Given the description of an element on the screen output the (x, y) to click on. 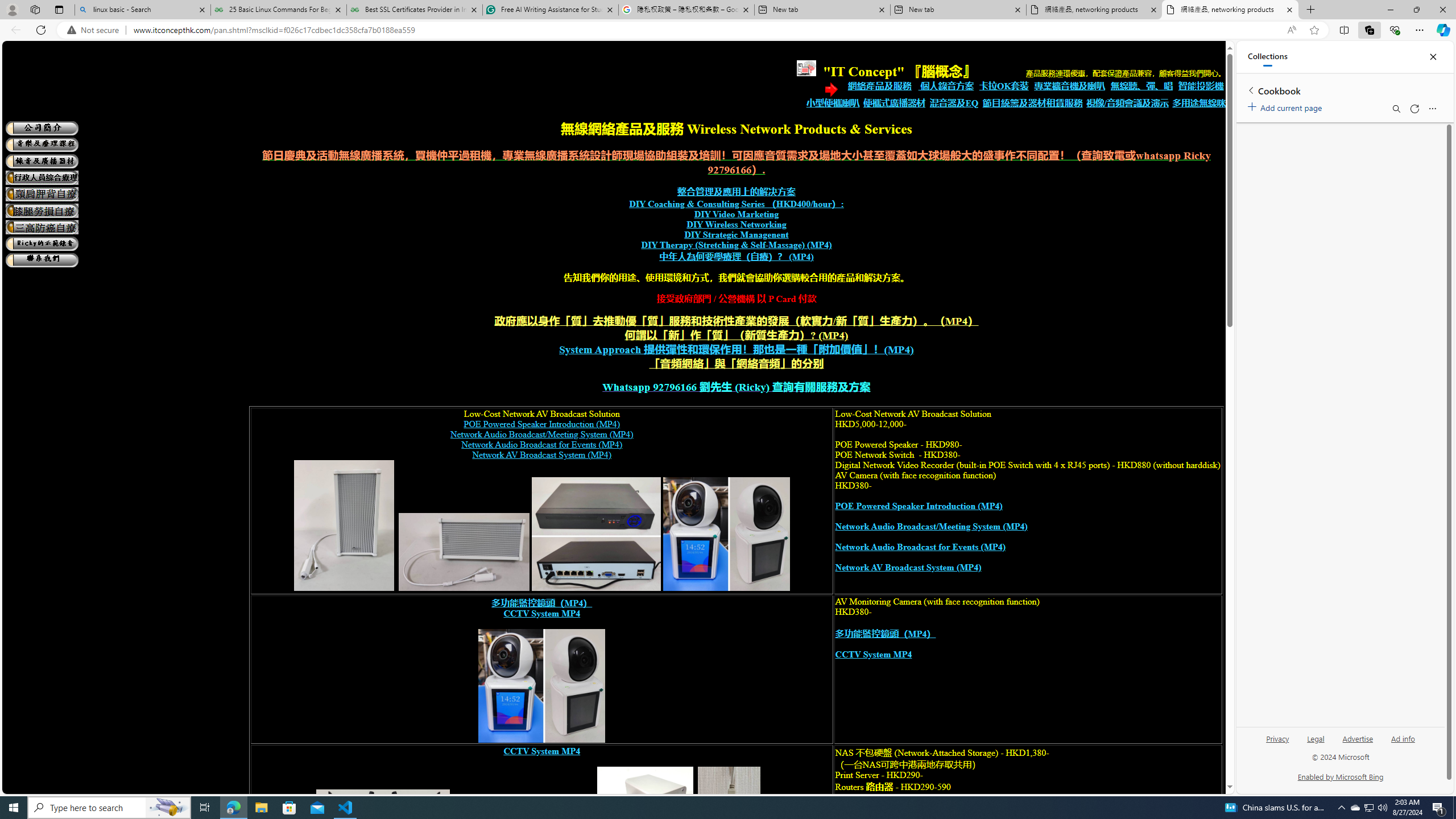
linux basic - Search (142, 9)
